Given the description of an element on the screen output the (x, y) to click on. 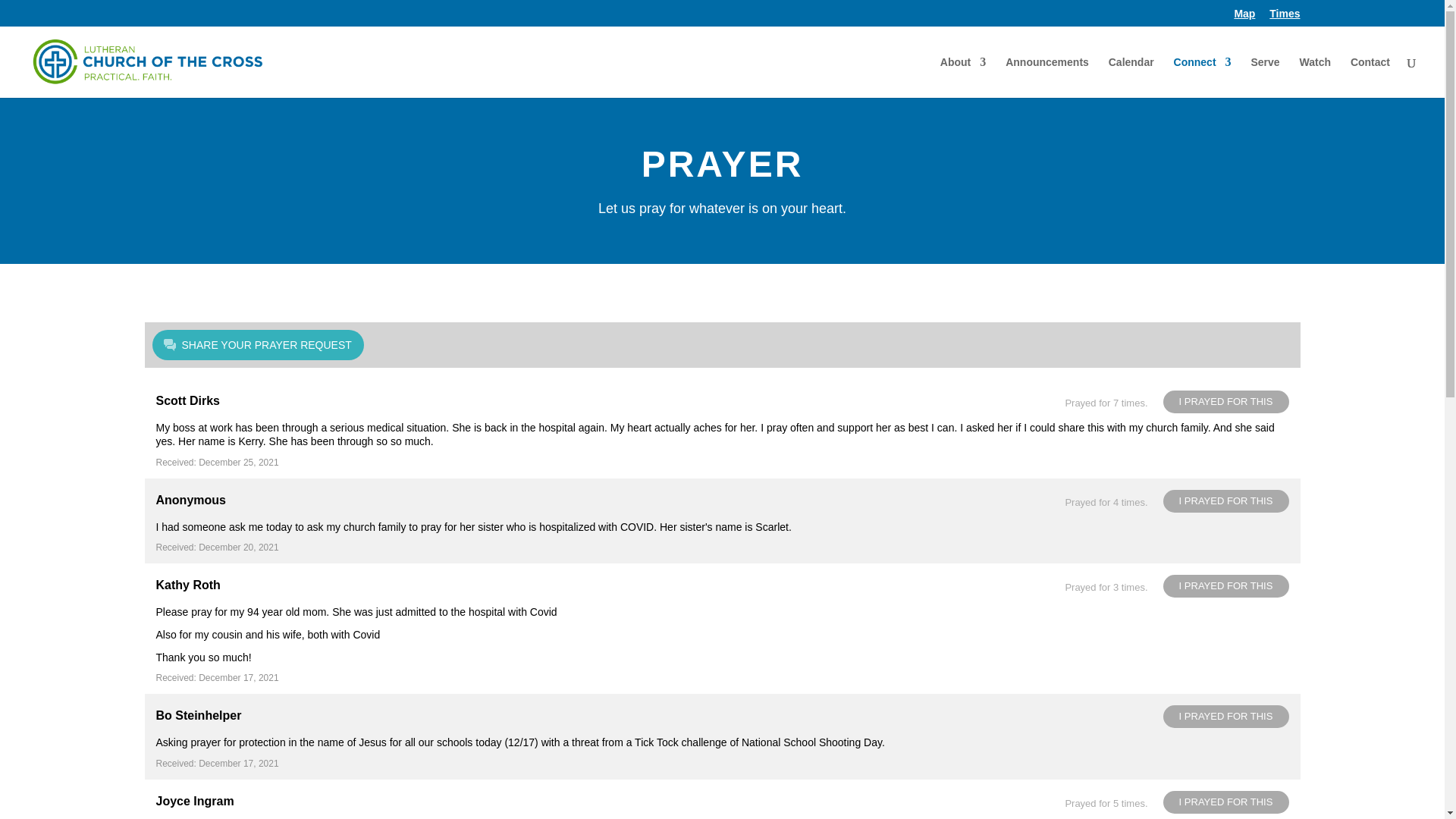
Connect (1202, 76)
About (962, 76)
Times (1284, 16)
Contact (1370, 76)
Map (1244, 16)
Announcements (1047, 76)
Calendar (1131, 76)
